Given the description of an element on the screen output the (x, y) to click on. 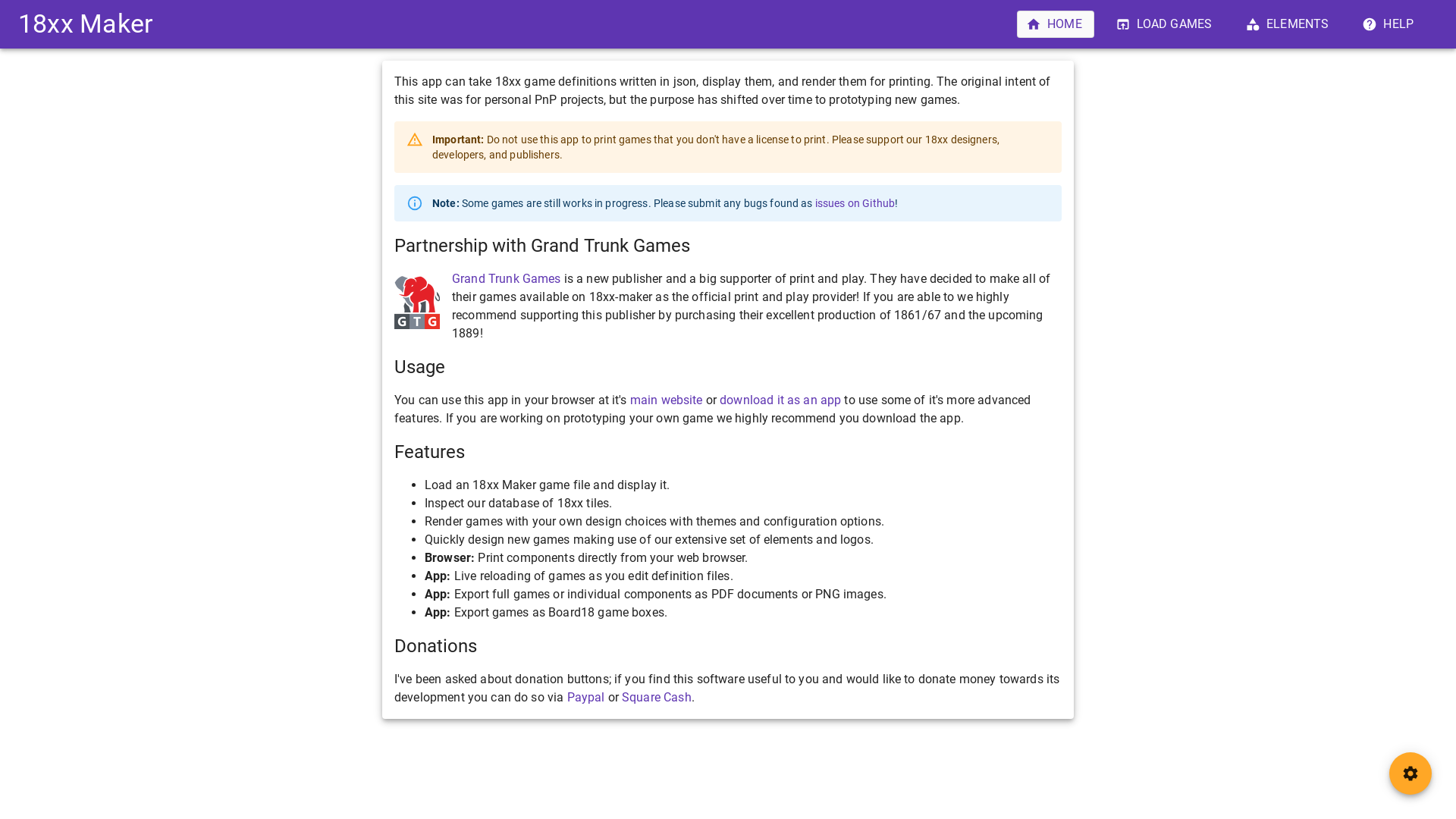
Config Element type: hover (1410, 773)
Paypal Element type: text (586, 697)
HELP Element type: text (1388, 23)
Grand Trunk Games Element type: text (506, 278)
HOME Element type: text (1055, 23)
download it as an app Element type: text (779, 399)
Square Cash Element type: text (656, 697)
ELEMENTS Element type: text (1288, 23)
LOAD GAMES Element type: text (1165, 23)
main website Element type: text (666, 399)
issues on Github Element type: text (854, 203)
